Given the description of an element on the screen output the (x, y) to click on. 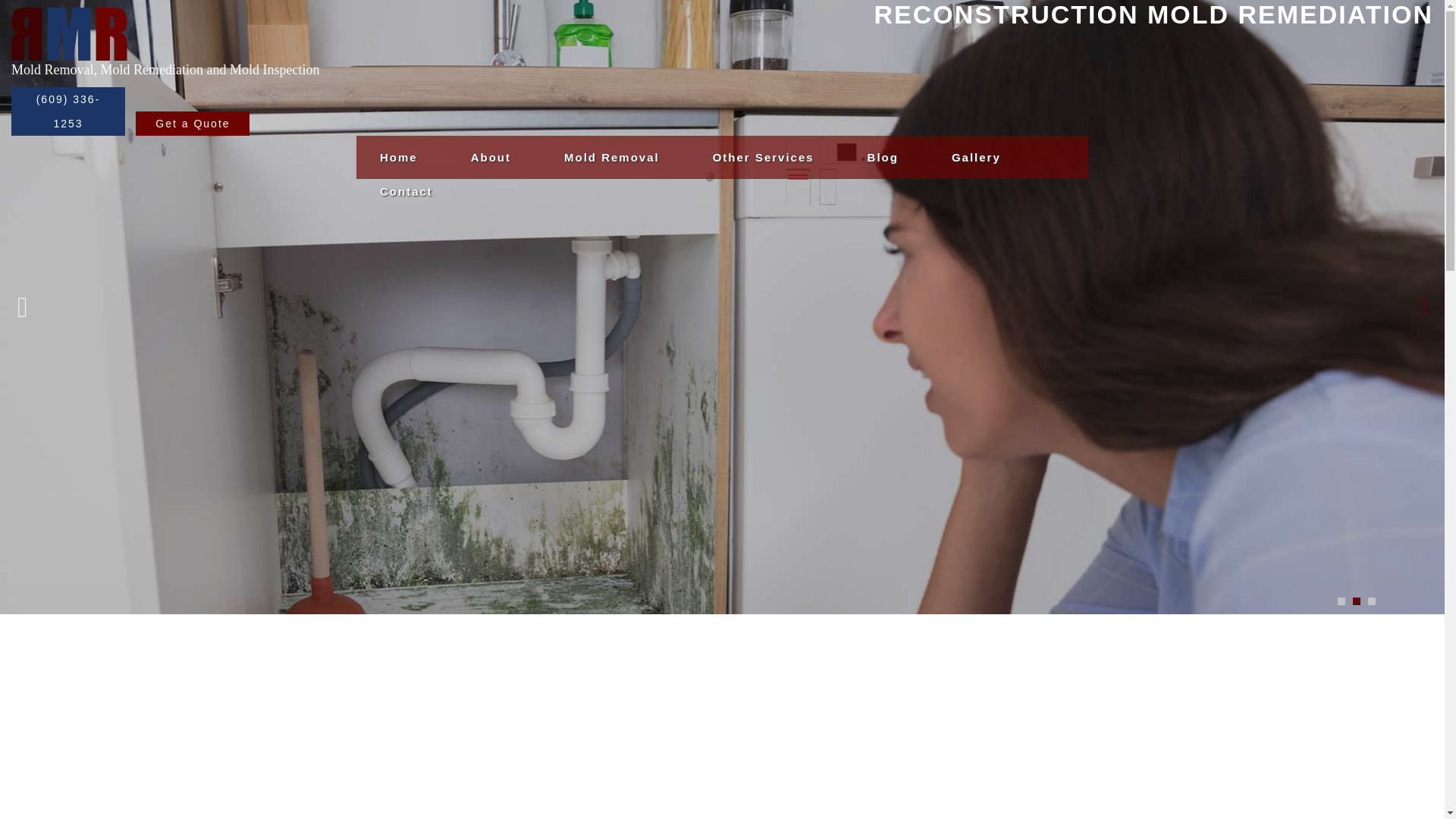
1 (1341, 601)
Contact (405, 191)
Commercial Remodeling (763, 191)
Gallery (975, 157)
2 (1355, 601)
Residential Remodeling (763, 225)
Service Areas (491, 191)
COVID-19 Cleaning and Sanitation (763, 327)
Get a Quote (191, 123)
Flooring (763, 259)
Other Services (763, 157)
Blog (882, 157)
About (491, 157)
3 (1371, 601)
